Given the description of an element on the screen output the (x, y) to click on. 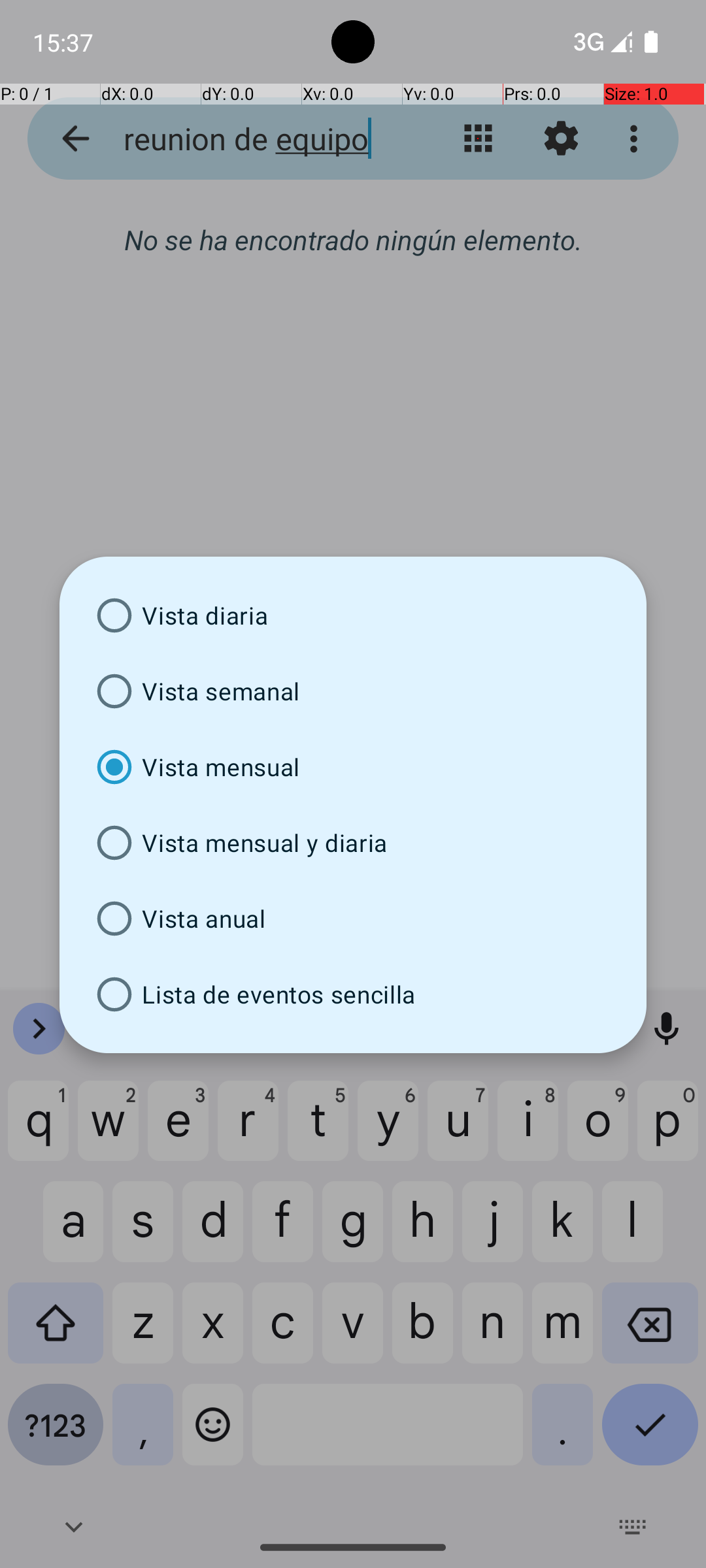
Vista diaria Element type: android.widget.RadioButton (352, 615)
Vista semanal Element type: android.widget.RadioButton (352, 691)
Vista mensual Element type: android.widget.RadioButton (352, 766)
Vista mensual y diaria Element type: android.widget.RadioButton (352, 842)
Vista anual Element type: android.widget.RadioButton (352, 918)
Lista de eventos sencilla Element type: android.widget.RadioButton (352, 994)
15:37 Element type: android.widget.TextView (64, 41)
